Given the description of an element on the screen output the (x, y) to click on. 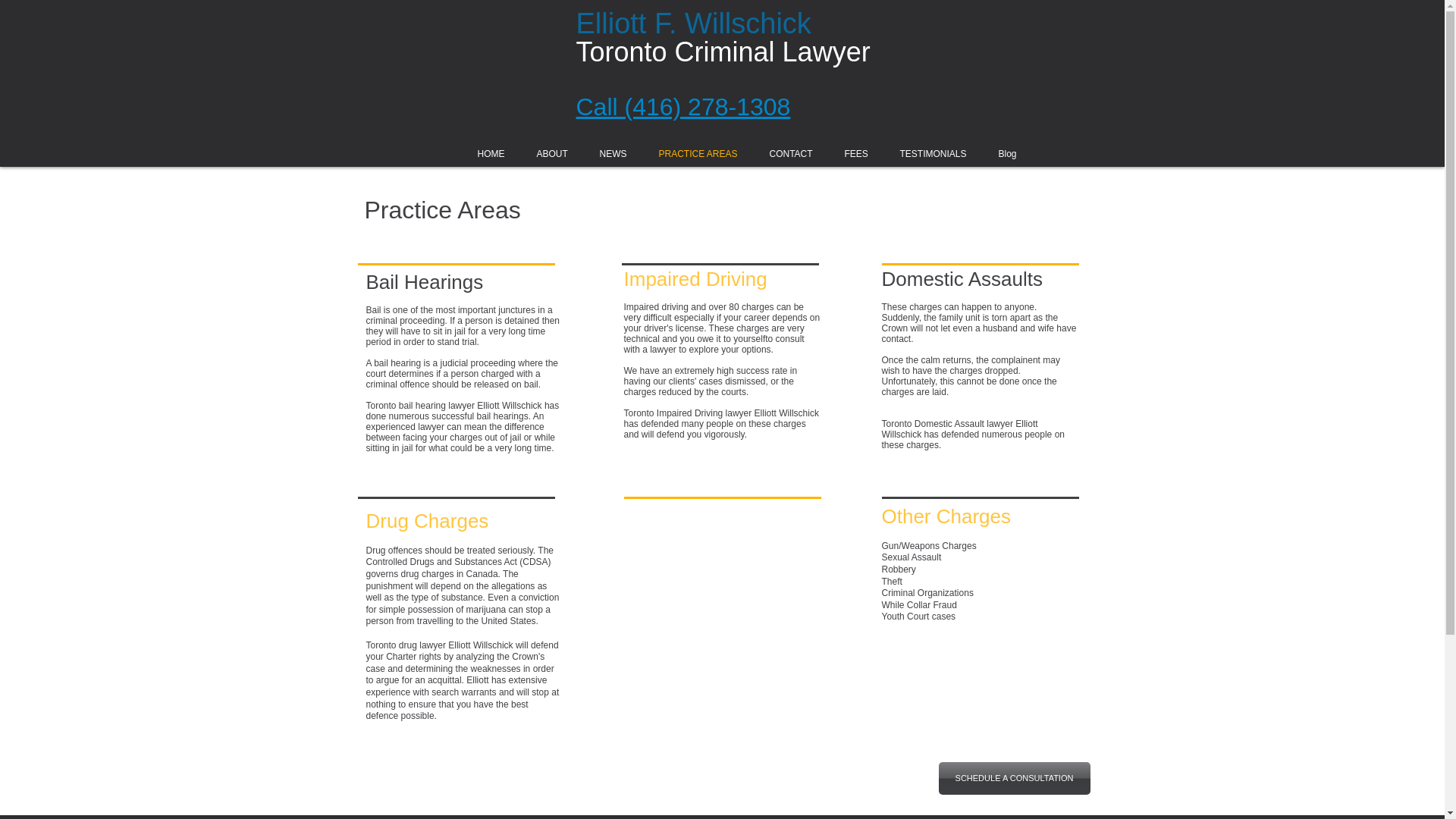
SCHEDULE A CONSULTATION (1014, 778)
